Given the description of an element on the screen output the (x, y) to click on. 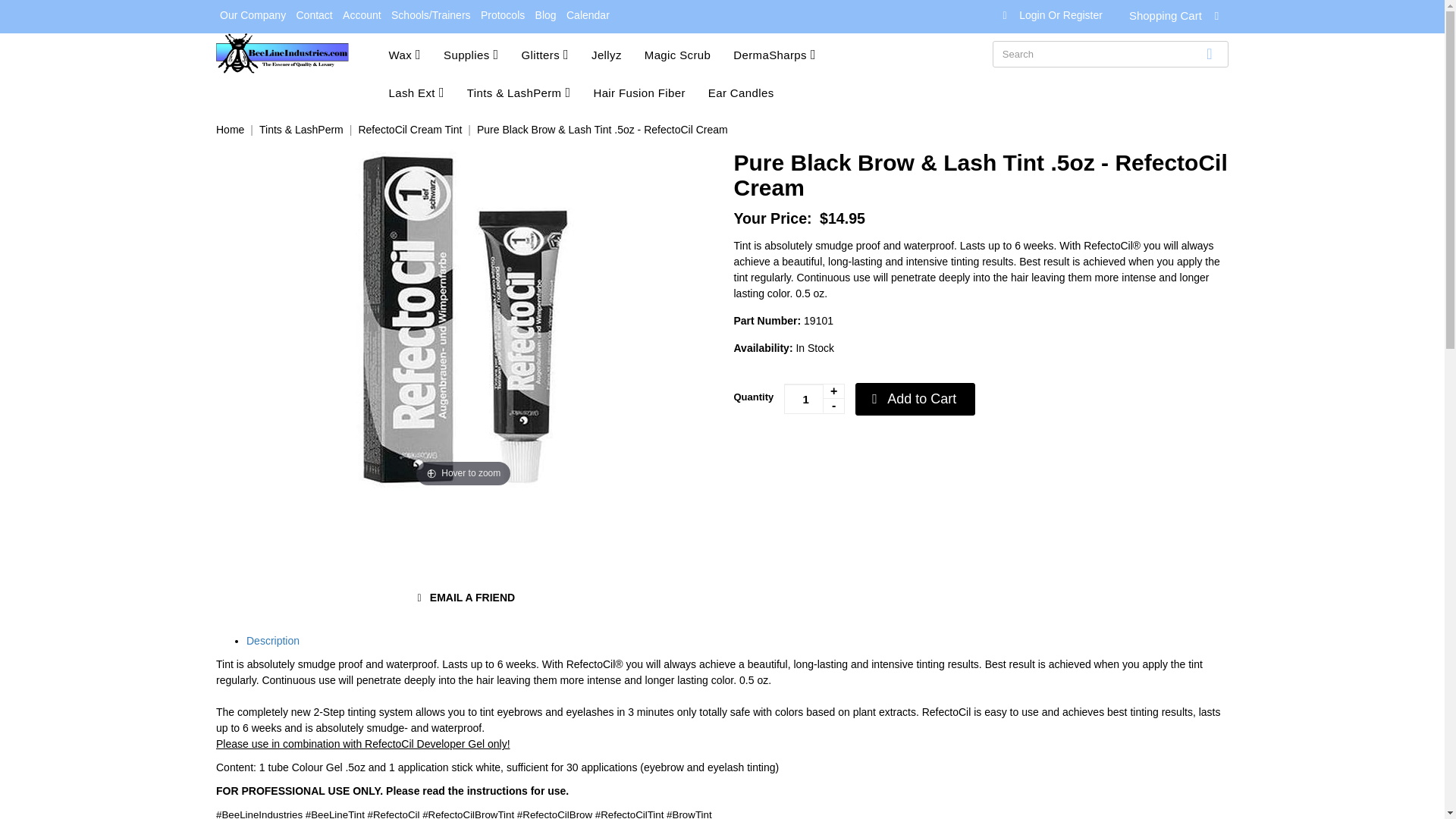
Calendar (587, 15)
Wax (416, 52)
DermaSharps (785, 52)
Our Company (252, 15)
Login Or Register (1059, 15)
1 (814, 399)
Protocols (502, 15)
PayPal (828, 455)
Jellyz (618, 52)
Shopping Cart (1178, 18)
Blog (545, 15)
Page 2 (721, 767)
Glitters (556, 52)
Contact (314, 15)
Account (362, 15)
